Given the description of an element on the screen output the (x, y) to click on. 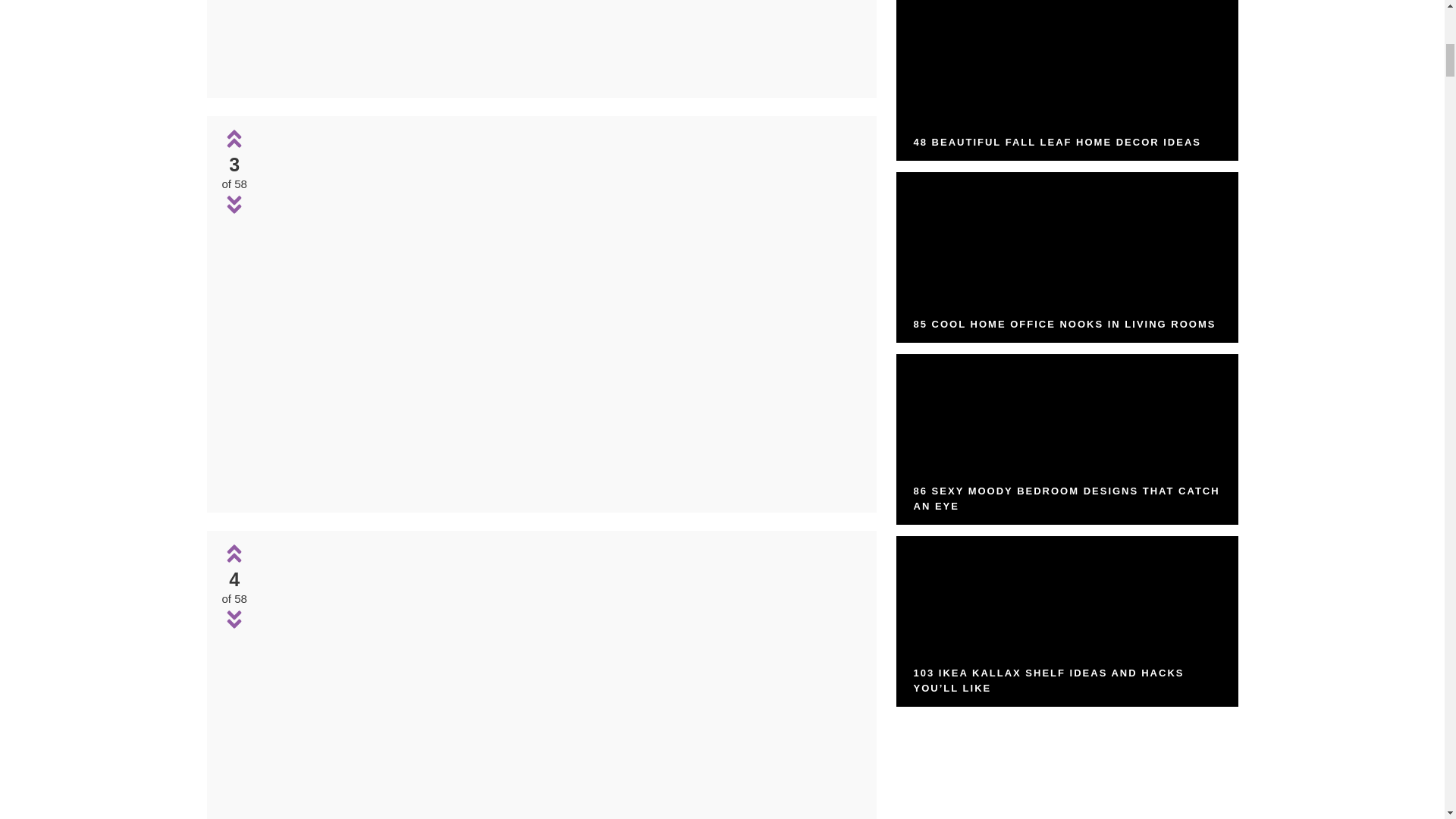
Cool Ideas For Cat Themed Room Design (559, 679)
Cool Ideas For Cat Themed Room Design (559, 491)
Cool Ideas For Cat Themed Room Design (559, 812)
Cool Ideas For Cat Themed Room Design (559, 76)
Cool Ideas For Cat Themed Room Design (559, 40)
